Given the description of an element on the screen output the (x, y) to click on. 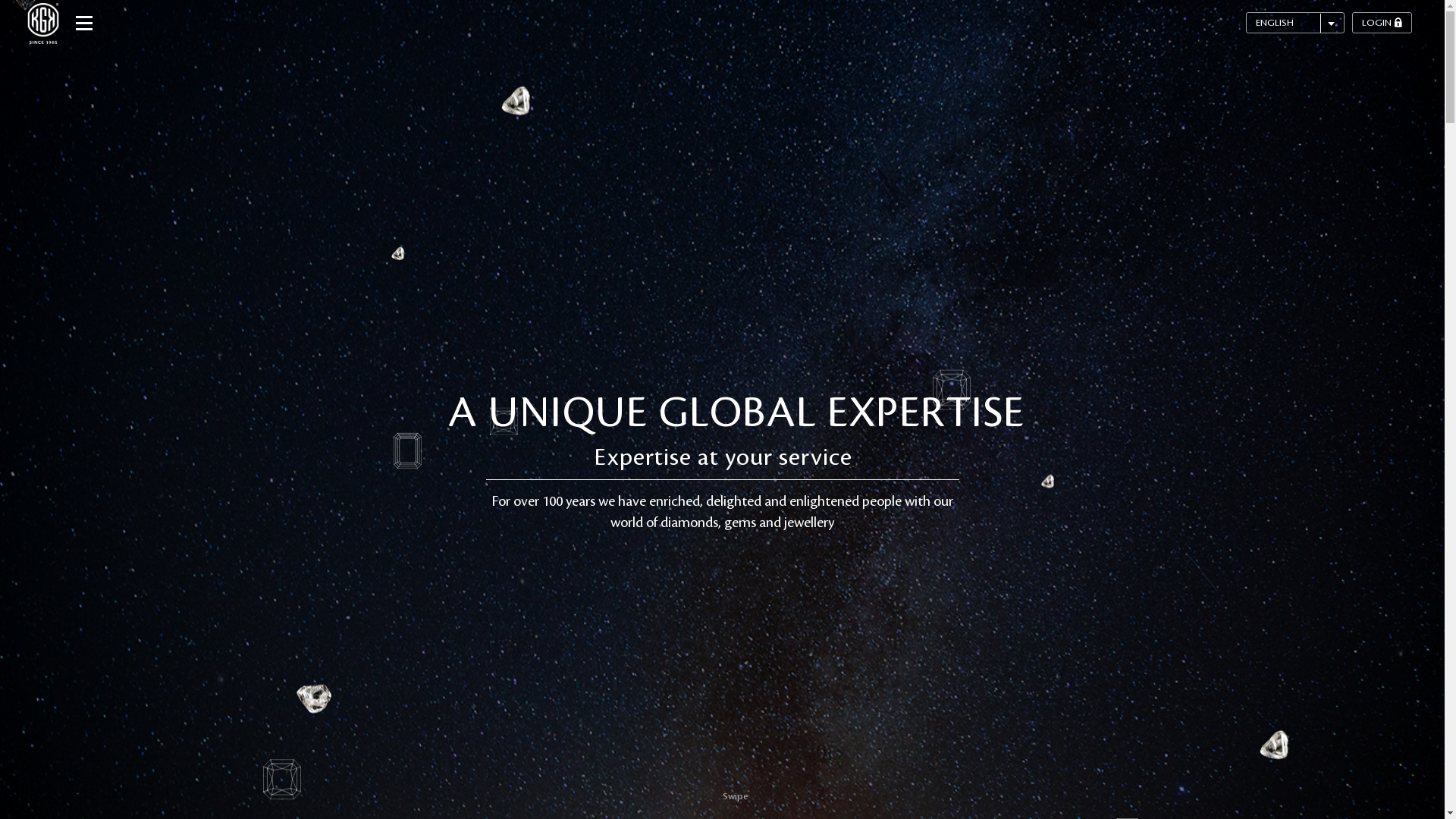
LOGIN Element type: text (1382, 22)
ENGLISH Element type: text (1294, 22)
